Given the description of an element on the screen output the (x, y) to click on. 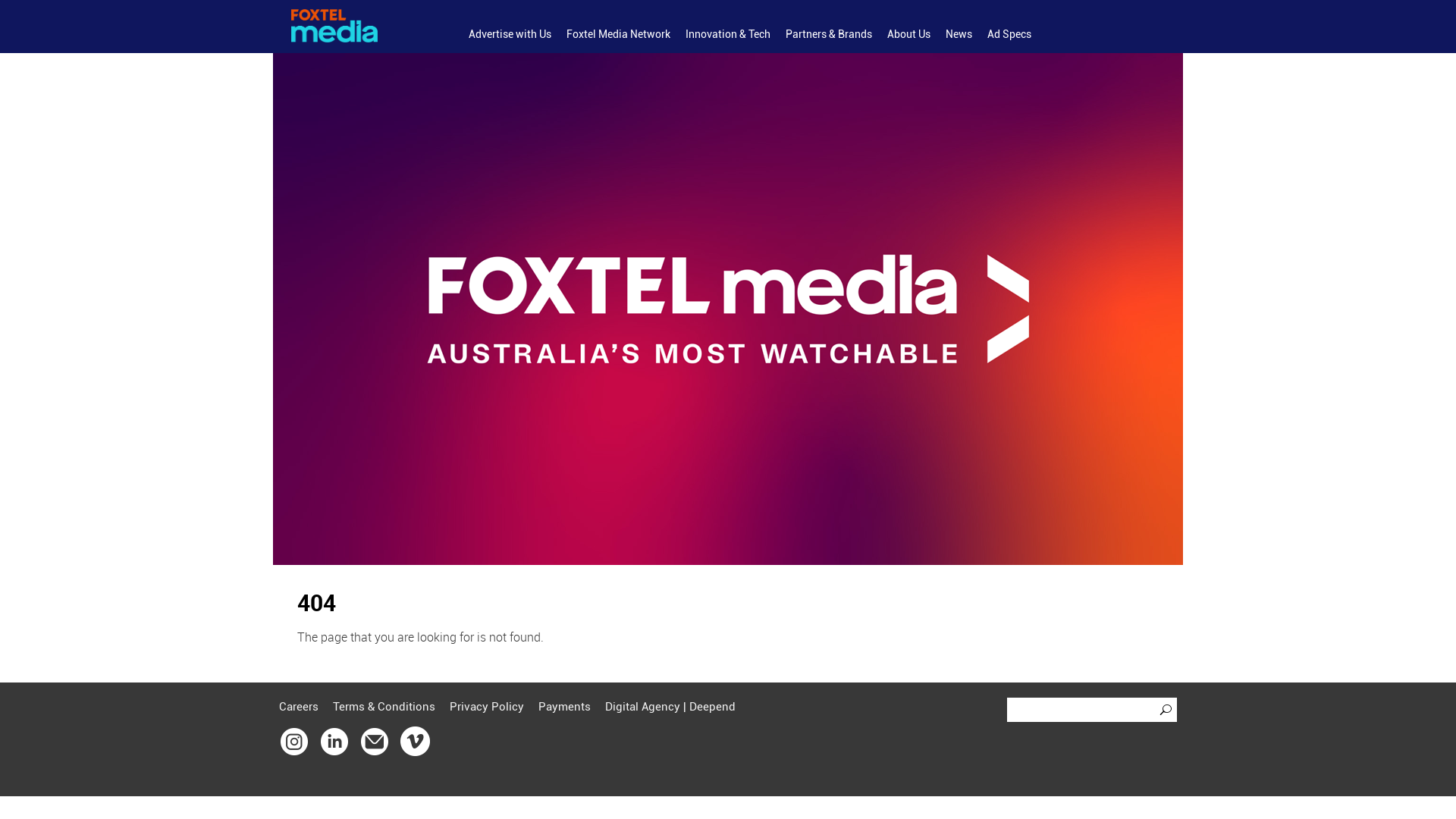
News Element type: text (958, 34)
Terms & Conditions Element type: text (383, 706)
About Us Element type: text (908, 34)
Advertise with Us Element type: text (509, 34)
Careers Element type: text (298, 706)
Payments Element type: text (564, 706)
Ad Specs Element type: text (1008, 34)
Foxtel Media Network Element type: text (617, 34)
Innovation & Tech Element type: text (727, 34)
Privacy Policy Element type: text (486, 706)
Partners & Brands Element type: text (828, 34)
Digital Agency | Deepend Element type: text (670, 706)
Click to search. Element type: text (1167, 709)
